Given the description of an element on the screen output the (x, y) to click on. 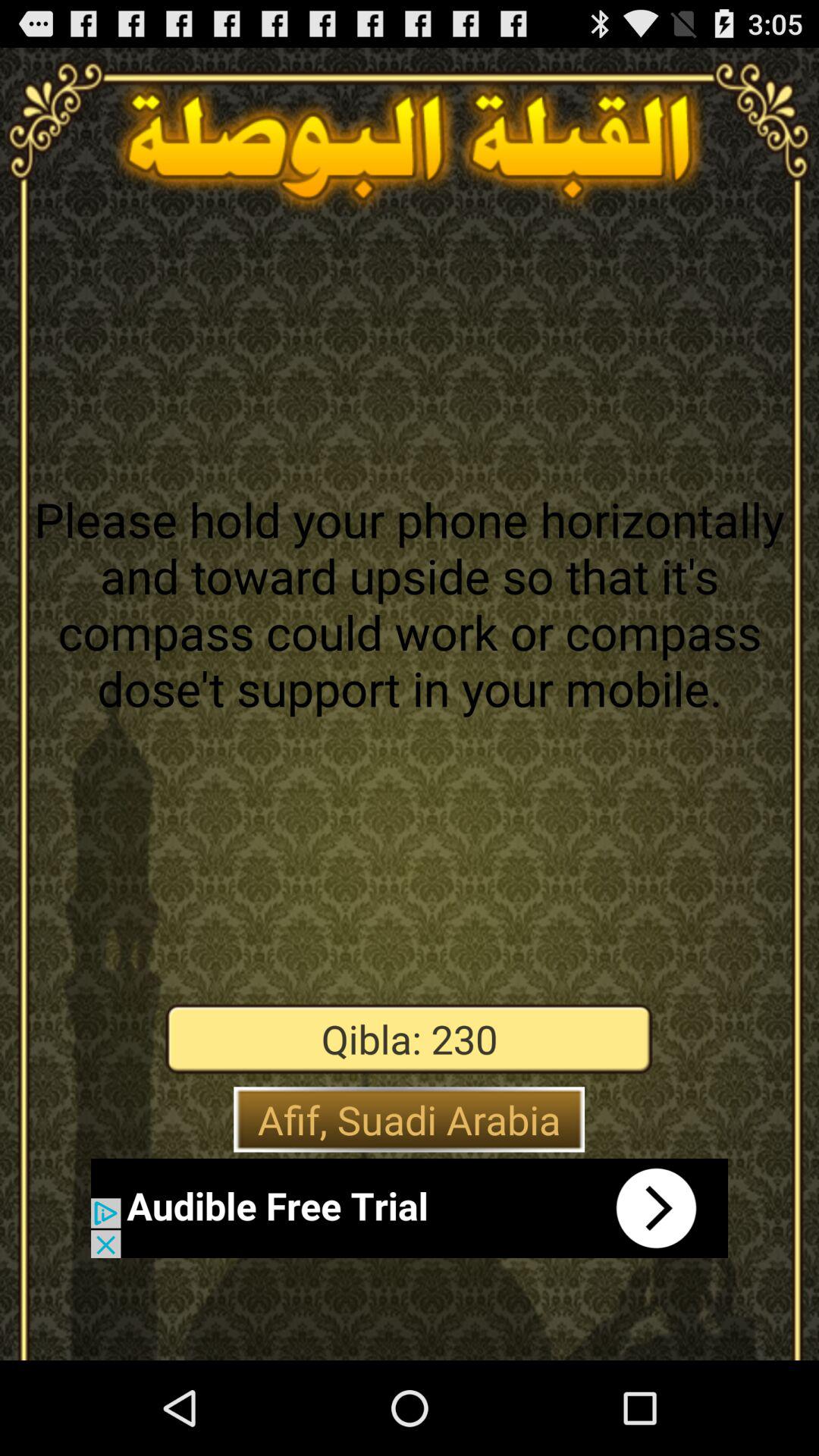
open the app store page (409, 1208)
